Given the description of an element on the screen output the (x, y) to click on. 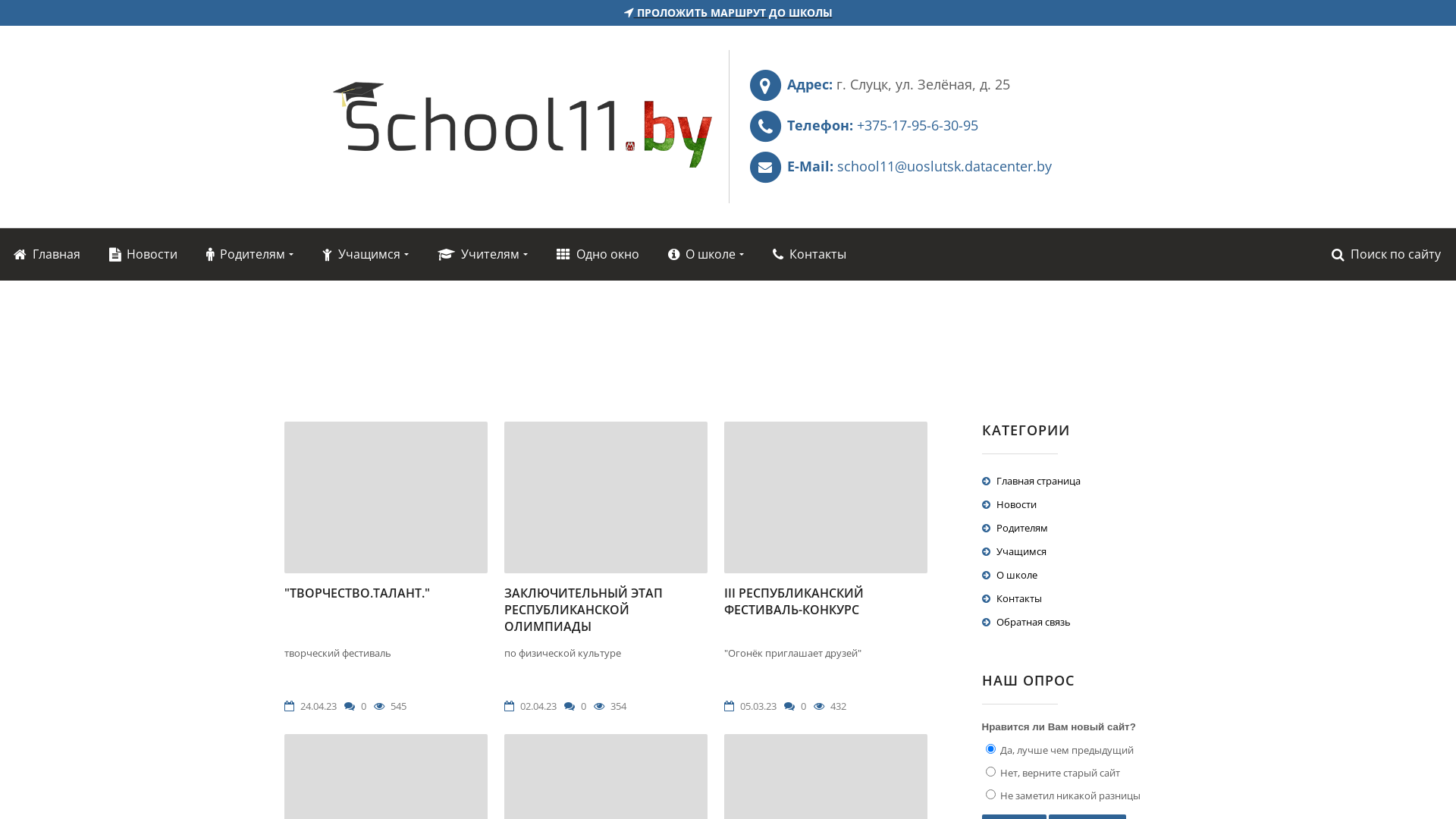
school11@uoslutsk.datacenter.by Element type: text (944, 165)
+375-17-95-6-30-95 Element type: text (917, 125)
